Given the description of an element on the screen output the (x, y) to click on. 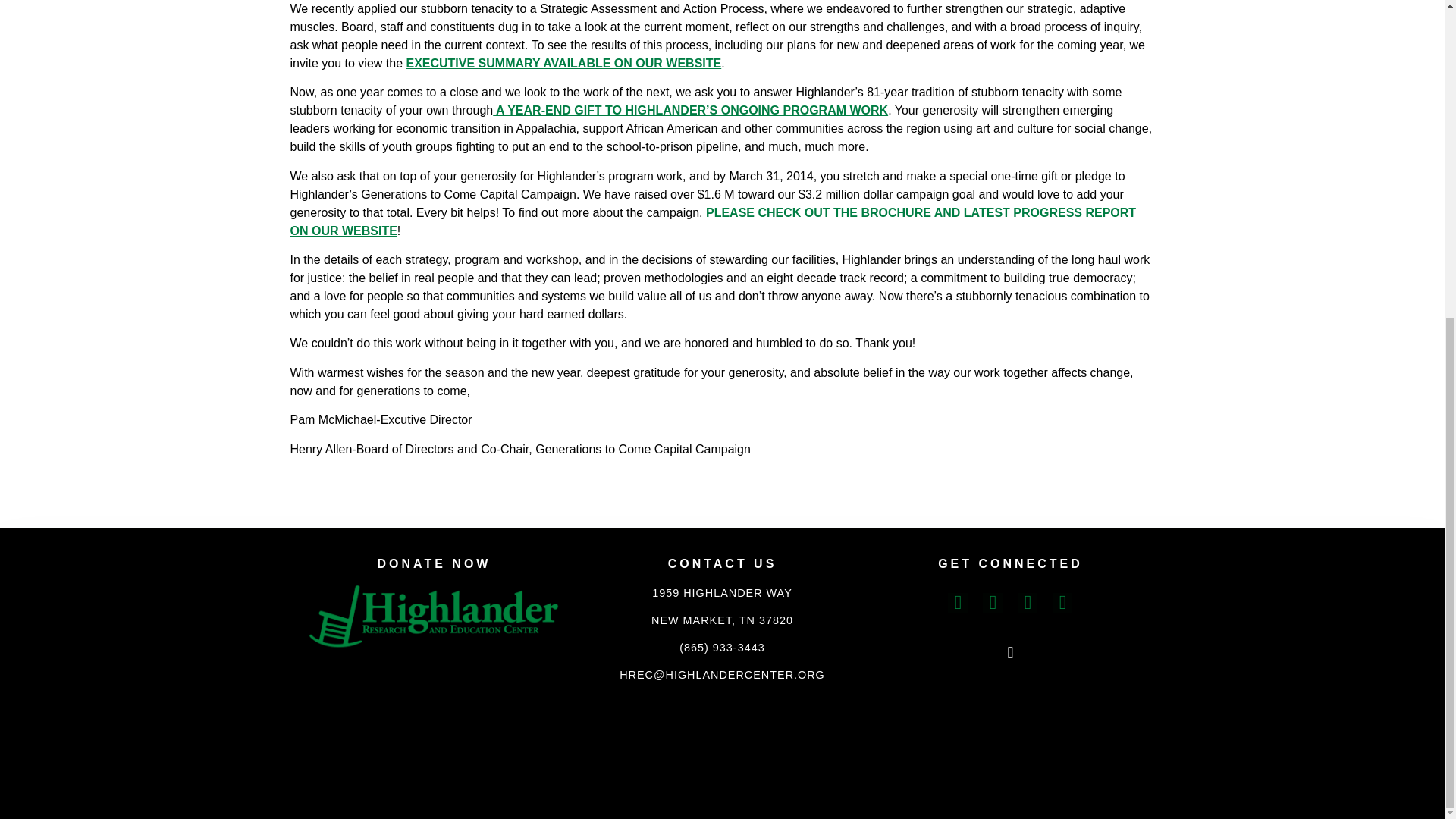
CRAFTED WITH CARE BY COY KINDRED CONSULTING (722, 726)
October 2013 Highlander Executive Summary (563, 62)
GET CONNECTED (1010, 563)
DONATE NOW (433, 563)
CONTACT US (722, 563)
